Given the description of an element on the screen output the (x, y) to click on. 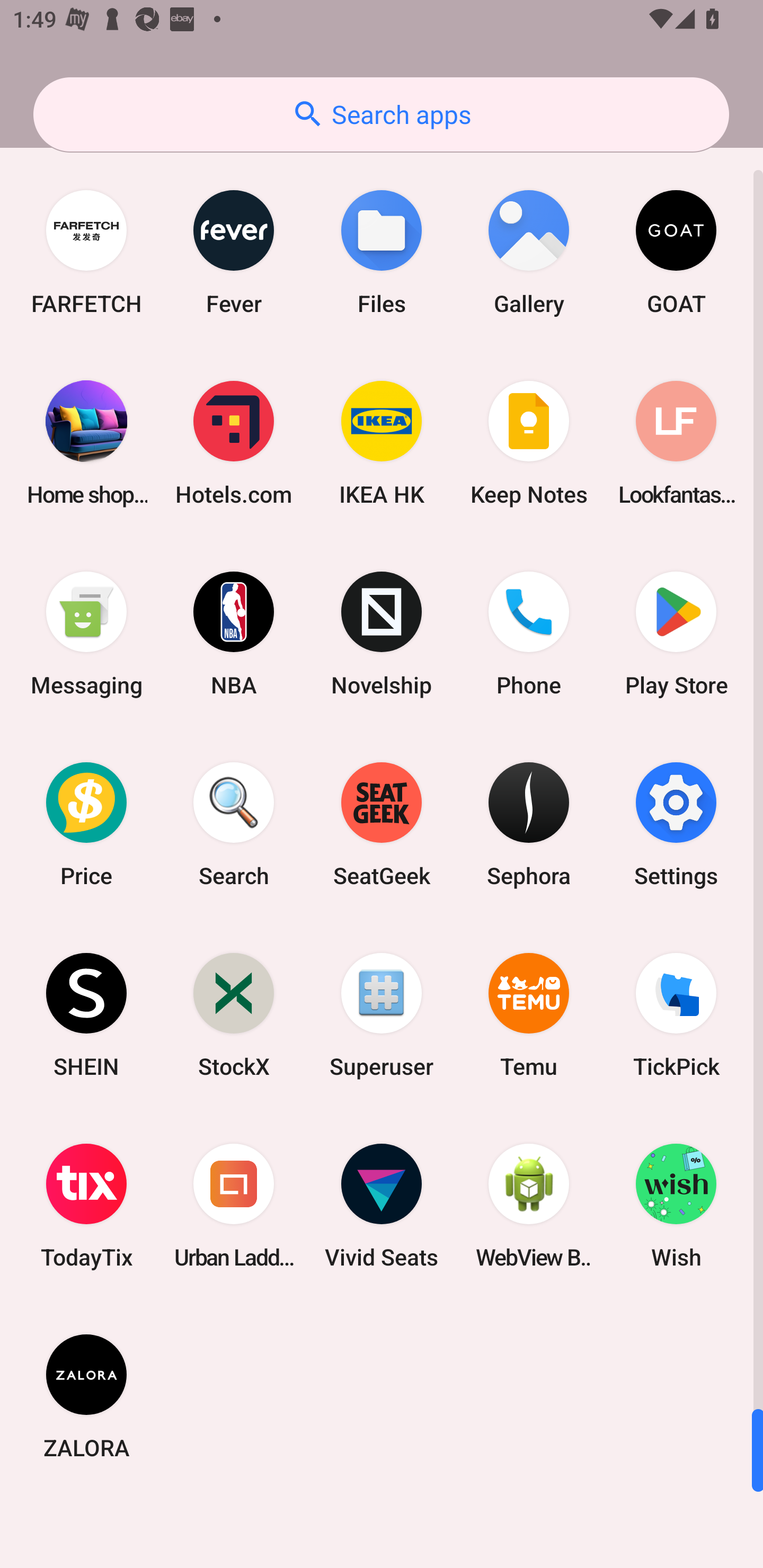
  Search apps (381, 114)
FARFETCH (86, 252)
Fever (233, 252)
Files (381, 252)
Gallery (528, 252)
GOAT (676, 252)
Home shopping (86, 442)
Hotels.com (233, 442)
IKEA HK (381, 442)
Keep Notes (528, 442)
Lookfantastic (676, 442)
Messaging (86, 633)
NBA (233, 633)
Novelship (381, 633)
Phone (528, 633)
Play Store (676, 633)
Price (86, 823)
Search (233, 823)
SeatGeek (381, 823)
Sephora (528, 823)
Settings (676, 823)
SHEIN (86, 1014)
StockX (233, 1014)
Superuser (381, 1014)
Temu (528, 1014)
TickPick (676, 1014)
TodayTix (86, 1205)
Urban Ladder (233, 1205)
Vivid Seats (381, 1205)
WebView Browser Tester (528, 1205)
Wish (676, 1205)
ZALORA (86, 1396)
